Given the description of an element on the screen output the (x, y) to click on. 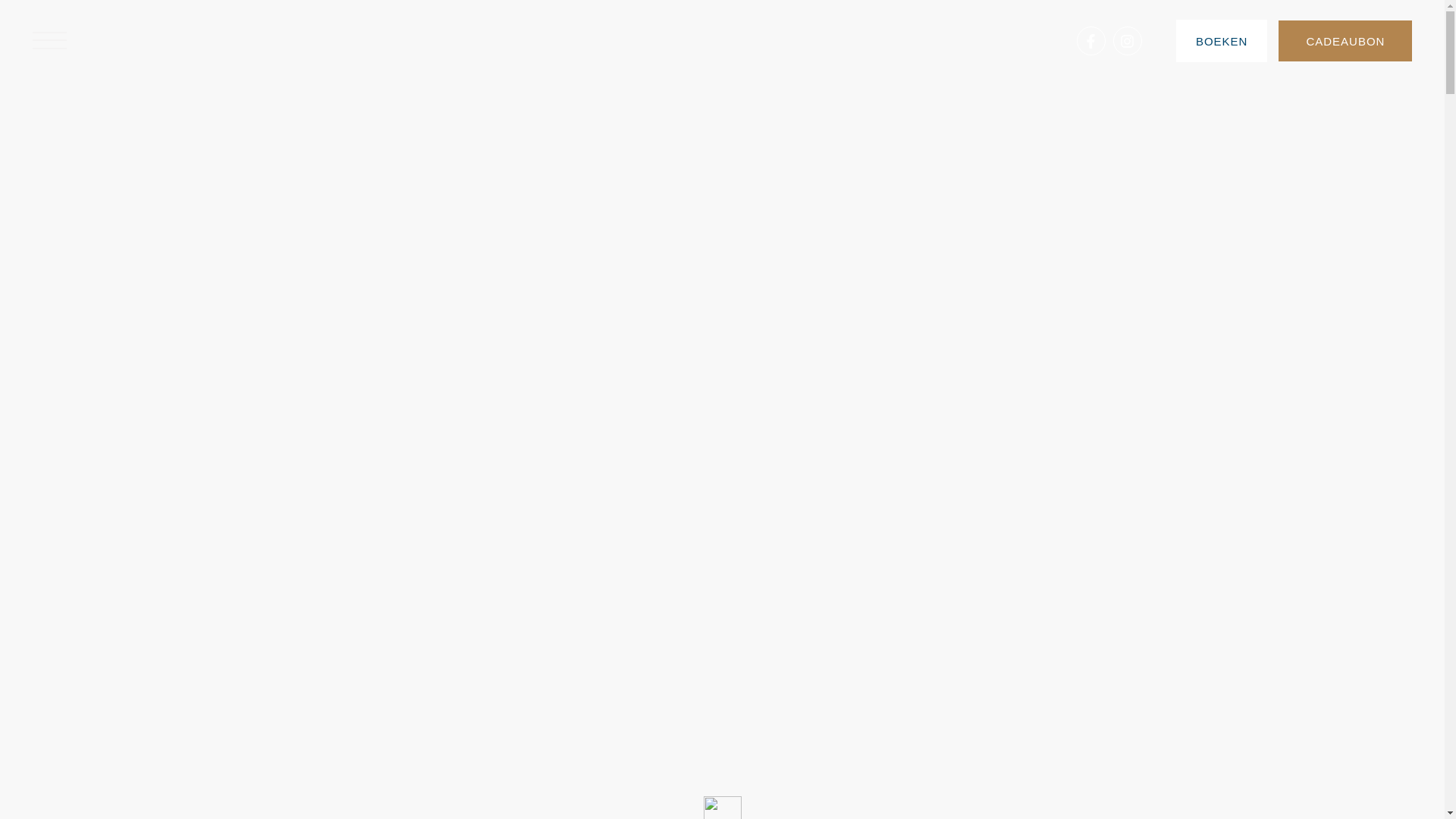
CADEAUBON Element type: text (1345, 40)
BOEKEN Element type: text (1221, 40)
